Given the description of an element on the screen output the (x, y) to click on. 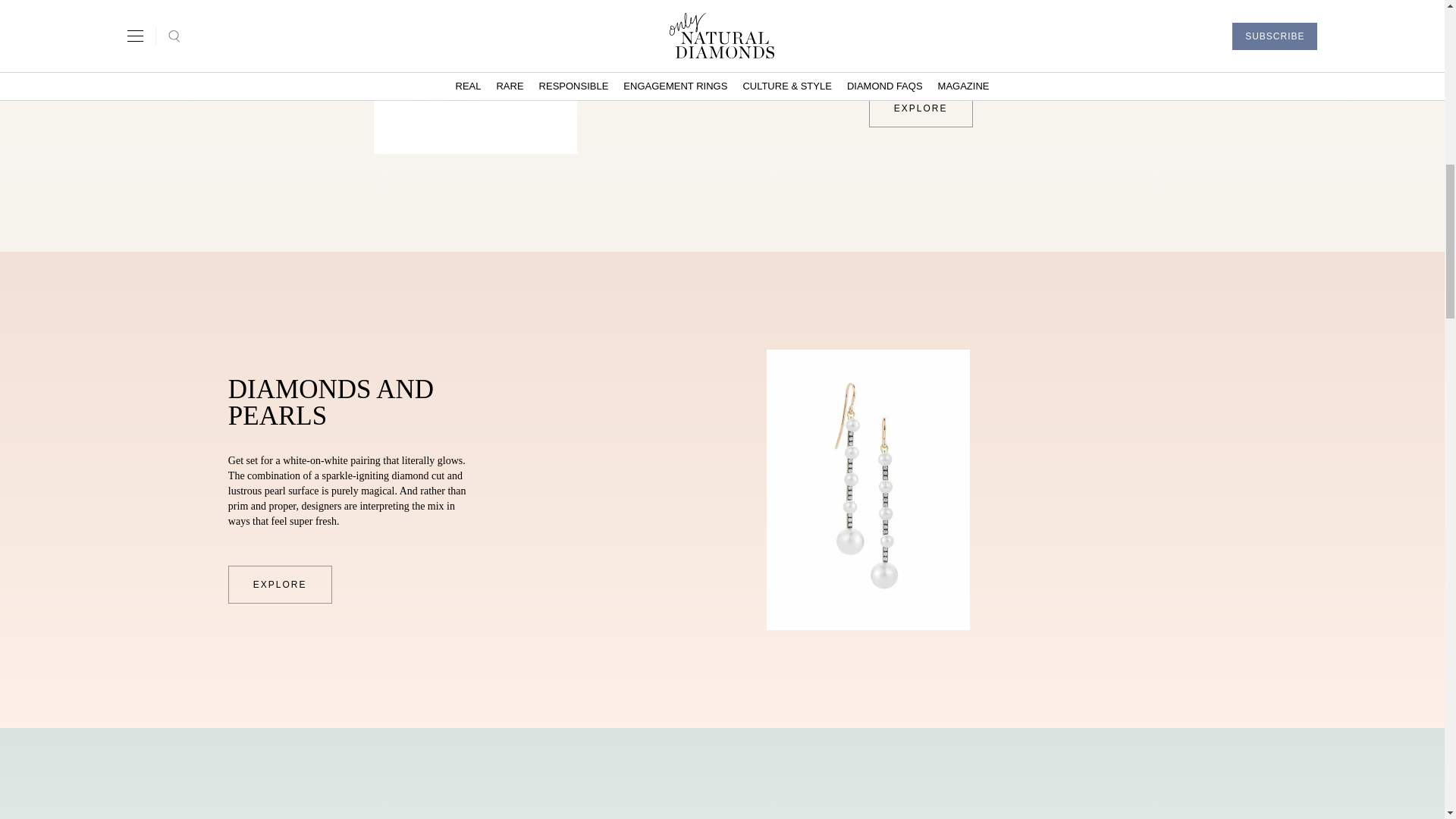
Page 4 (351, 491)
Page 4 (992, 26)
